Given the description of an element on the screen output the (x, y) to click on. 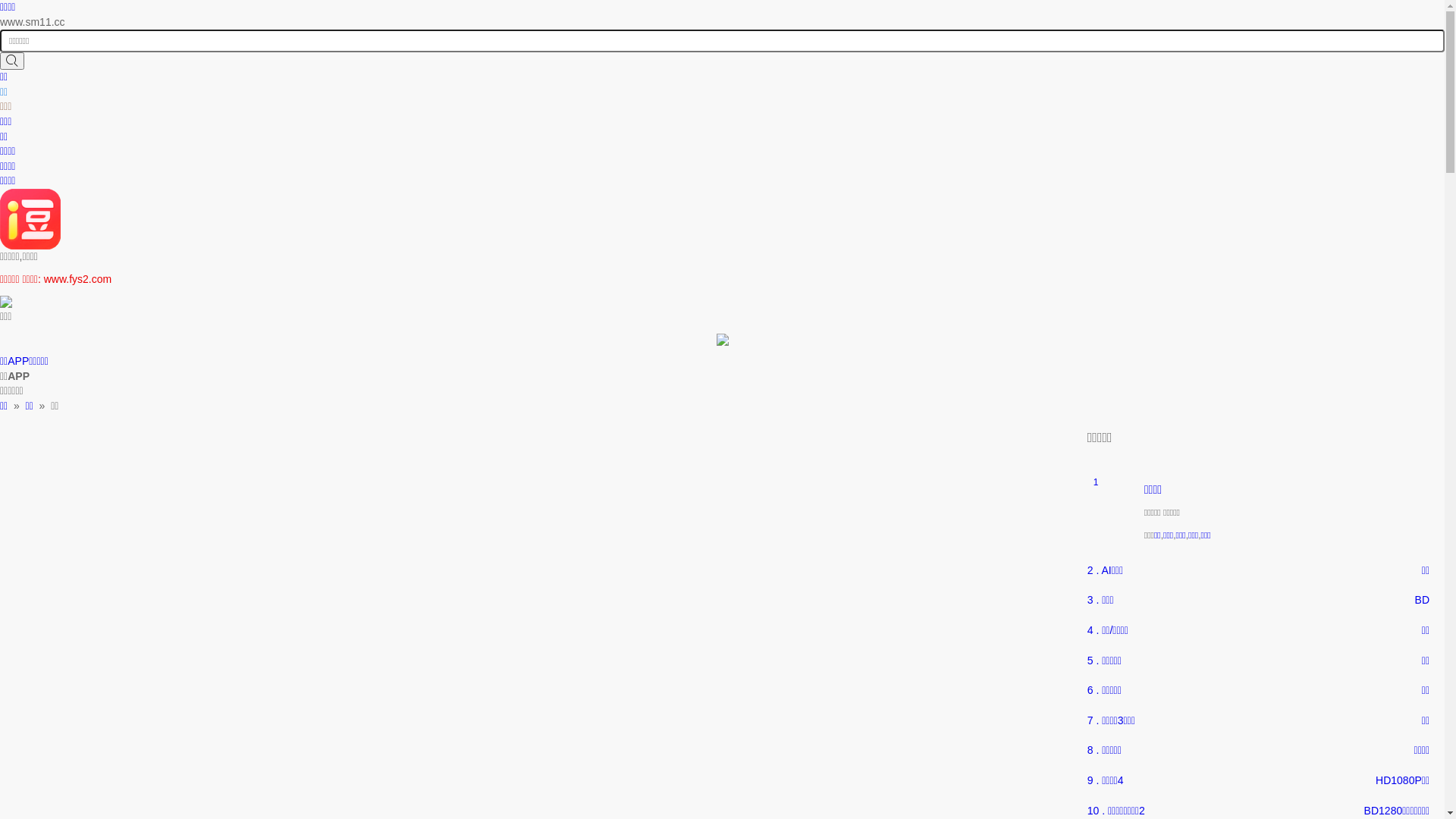
1 Element type: text (1111, 510)
